Given the description of an element on the screen output the (x, y) to click on. 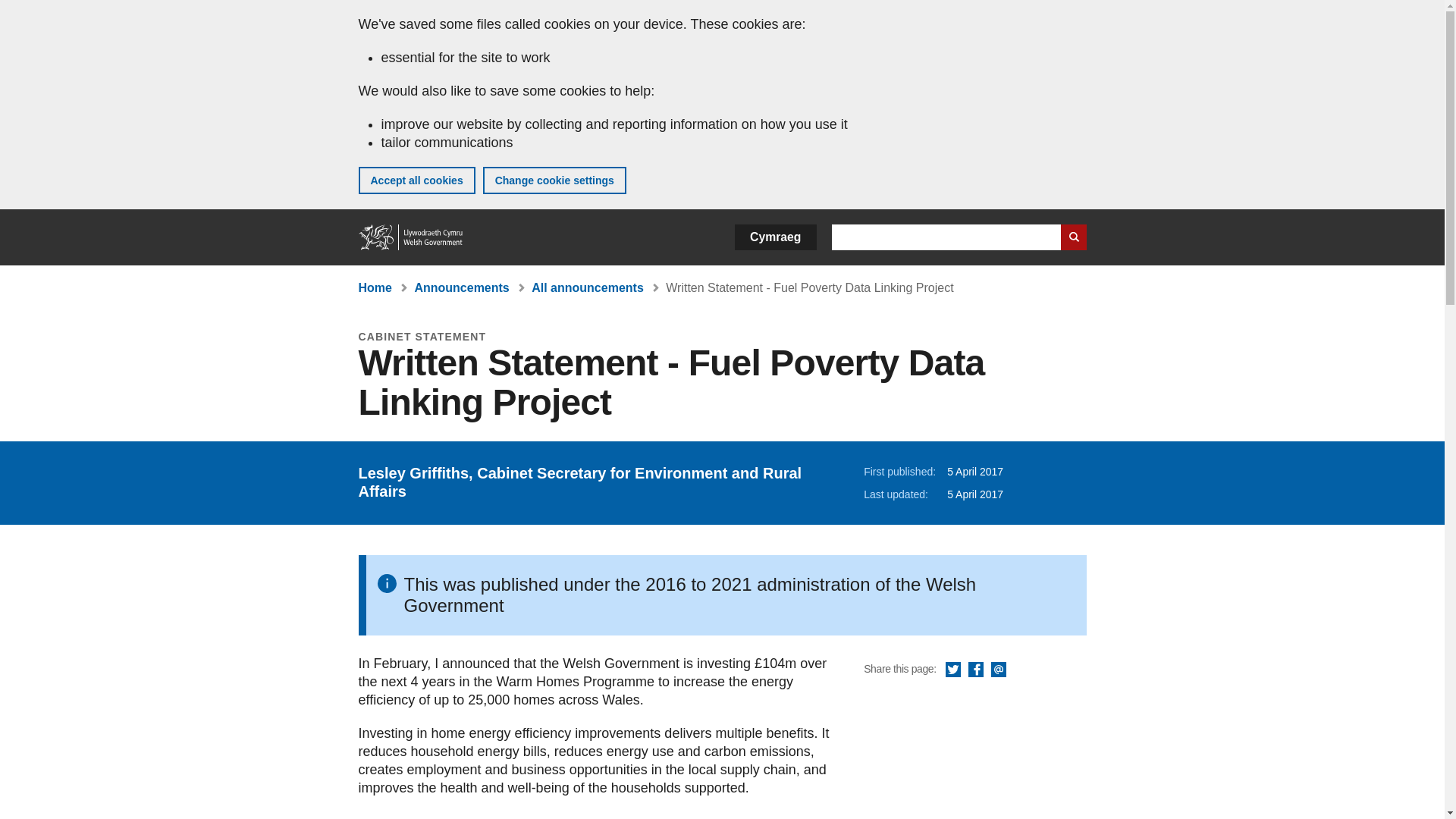
Skip to main content (22, 11)
Twitter (952, 669)
Change cookie settings (554, 180)
Accept all cookies (416, 180)
Email (998, 669)
Written Statement - Fuel Poverty Data Linking Project (809, 287)
Search website (1072, 237)
Home (411, 237)
Search website (1072, 237)
Home (374, 287)
